Given the description of an element on the screen output the (x, y) to click on. 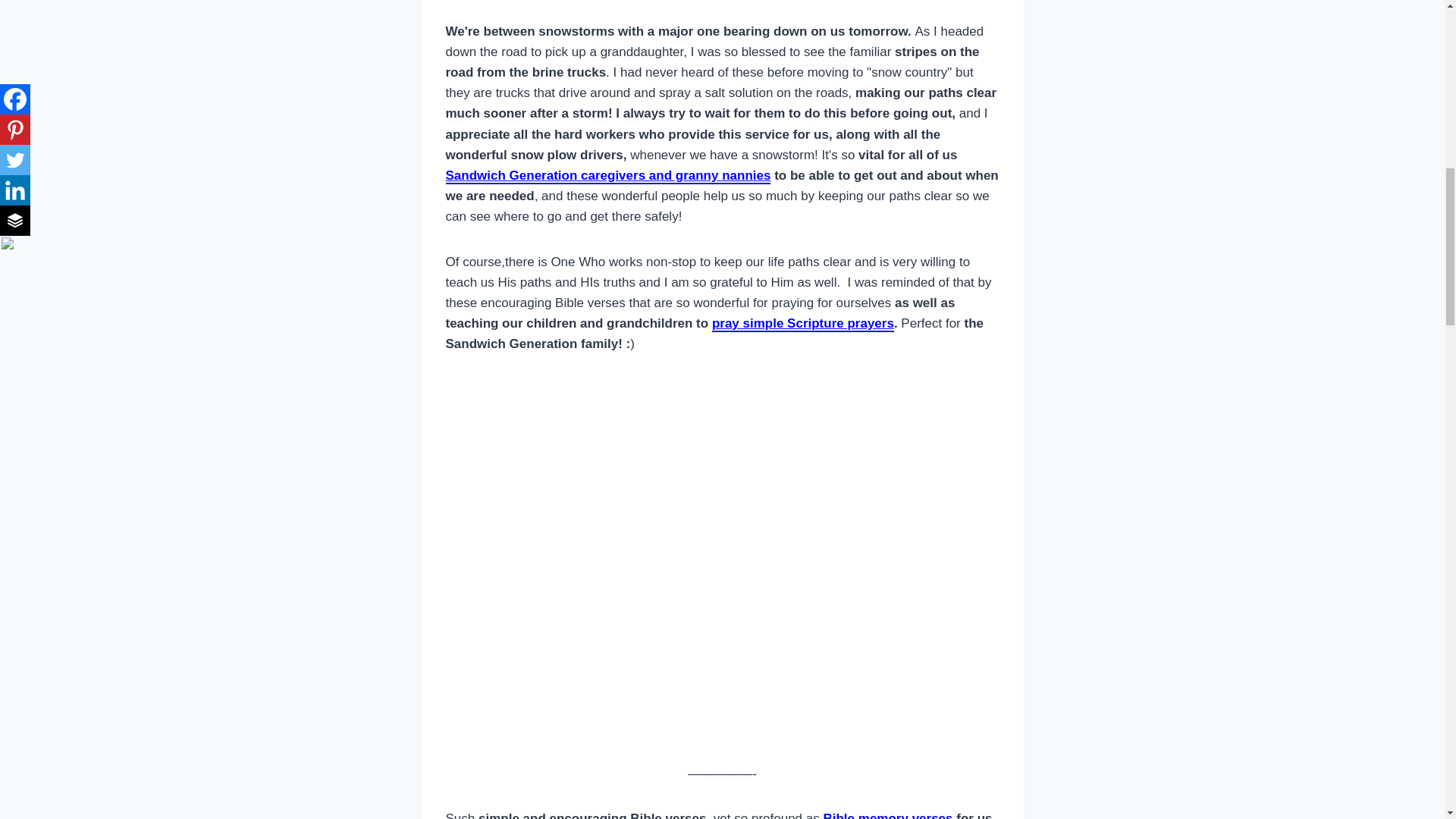
Bible memory verses (887, 815)
pray simple Scripture prayers (802, 324)
Sandwich Generation caregivers and granny nannies (608, 176)
